Given the description of an element on the screen output the (x, y) to click on. 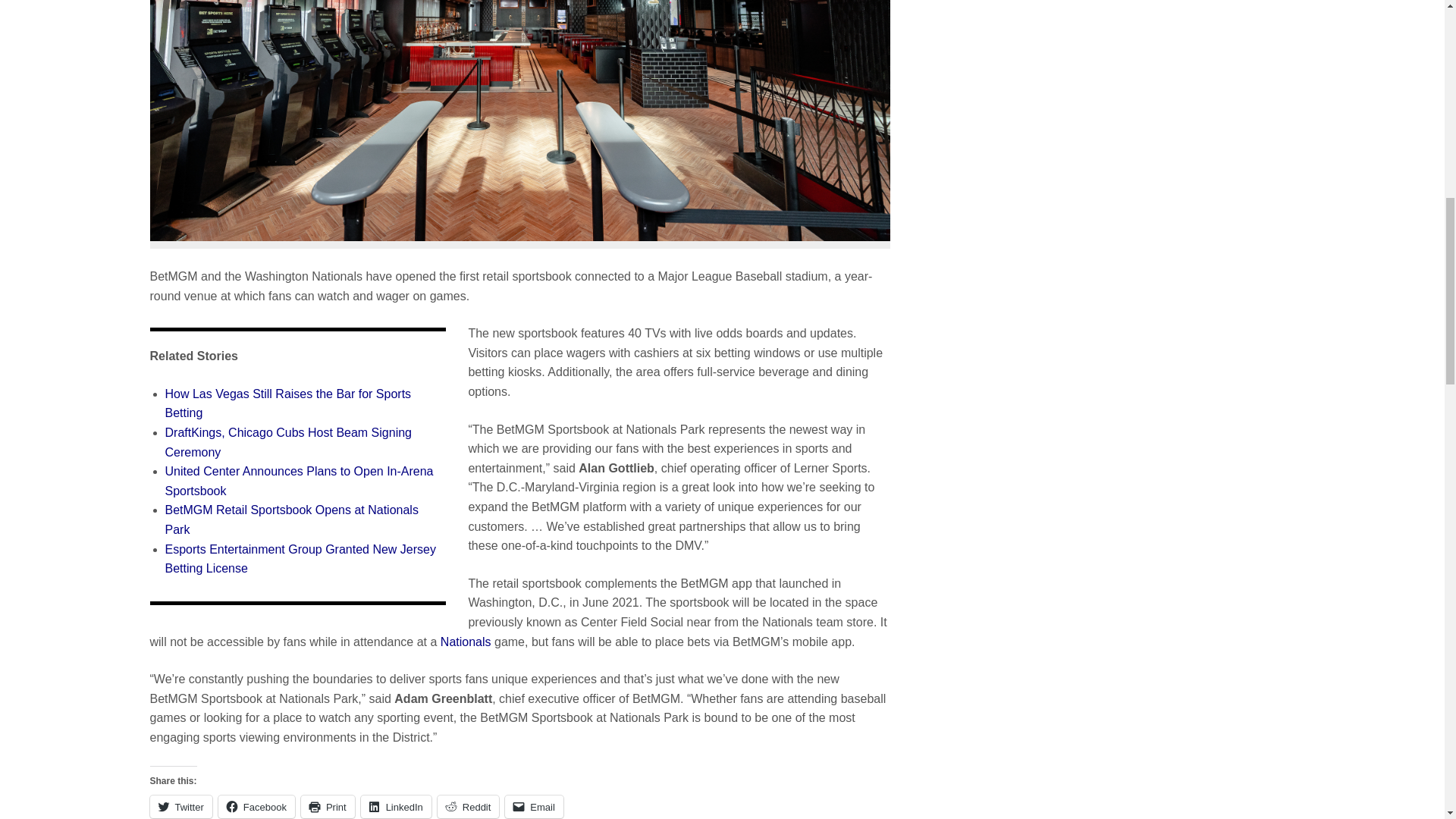
Click to share on Facebook (256, 806)
Click to email a link to a friend (534, 806)
Click to print (328, 806)
Click to share on Twitter (180, 806)
Click to share on LinkedIn (395, 806)
Click to share on Reddit (468, 806)
